Given the description of an element on the screen output the (x, y) to click on. 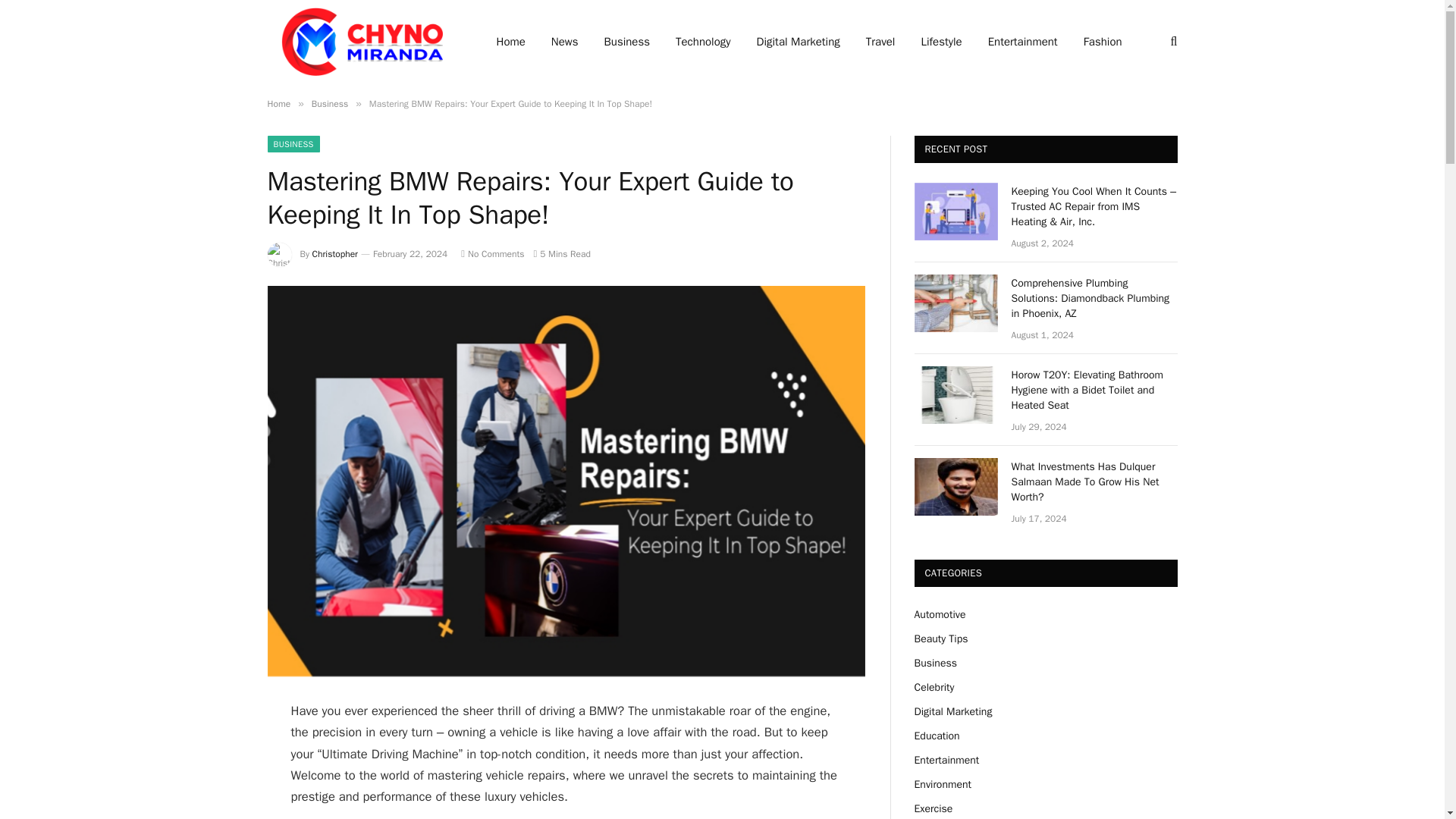
Technology (703, 41)
Christopher (335, 254)
Digital Marketing (798, 41)
Home (277, 103)
Business (329, 103)
Entertainment (1022, 41)
No Comments (492, 254)
Chyno Miranda.com (361, 41)
BUSINESS (292, 143)
Posts by Christopher (335, 254)
